Given the description of an element on the screen output the (x, y) to click on. 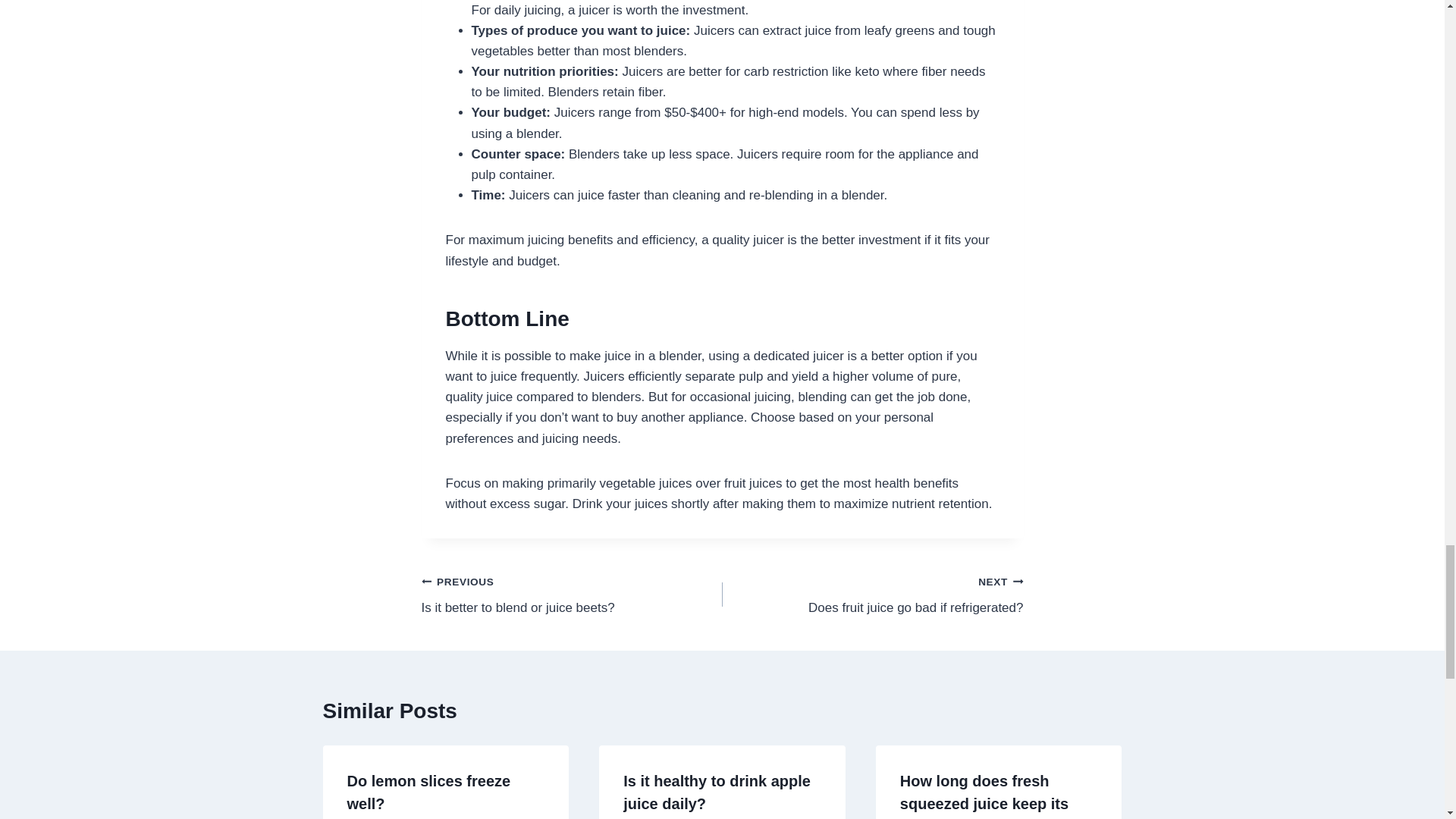
Is it healthy to drink apple juice daily? (572, 594)
Do lemon slices freeze well? (716, 792)
How long does fresh squeezed juice keep its nutrients? (872, 594)
